Given the description of an element on the screen output the (x, y) to click on. 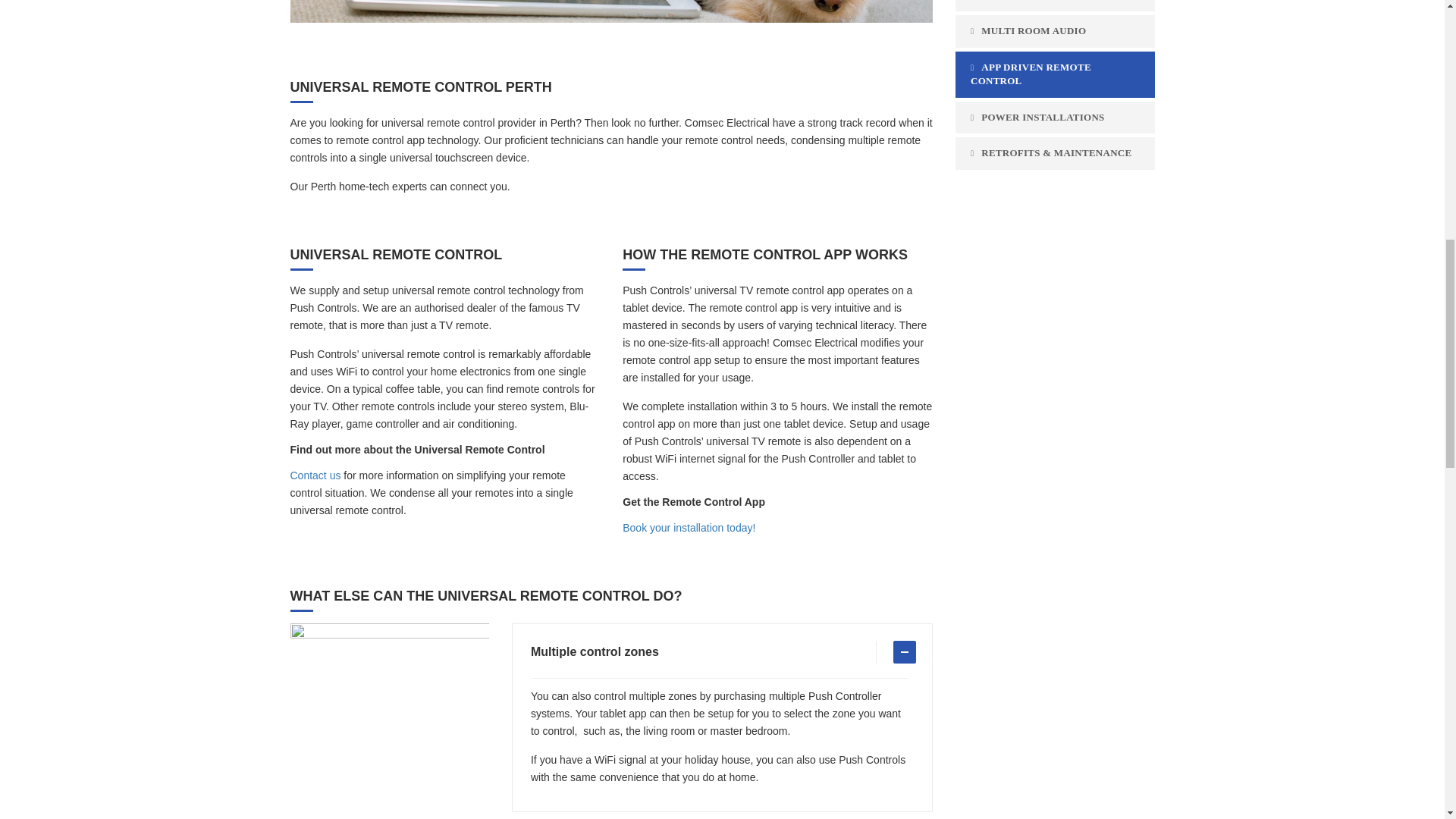
Book your installation today! (689, 527)
HOME THEATRE (1054, 6)
Multiple control zones (719, 652)
POWER INSTALLATIONS (1054, 117)
MULTI ROOM AUDIO (1054, 31)
Contact us (314, 475)
APP DRIVEN REMOTE CONTROL (1054, 74)
